Given the description of an element on the screen output the (x, y) to click on. 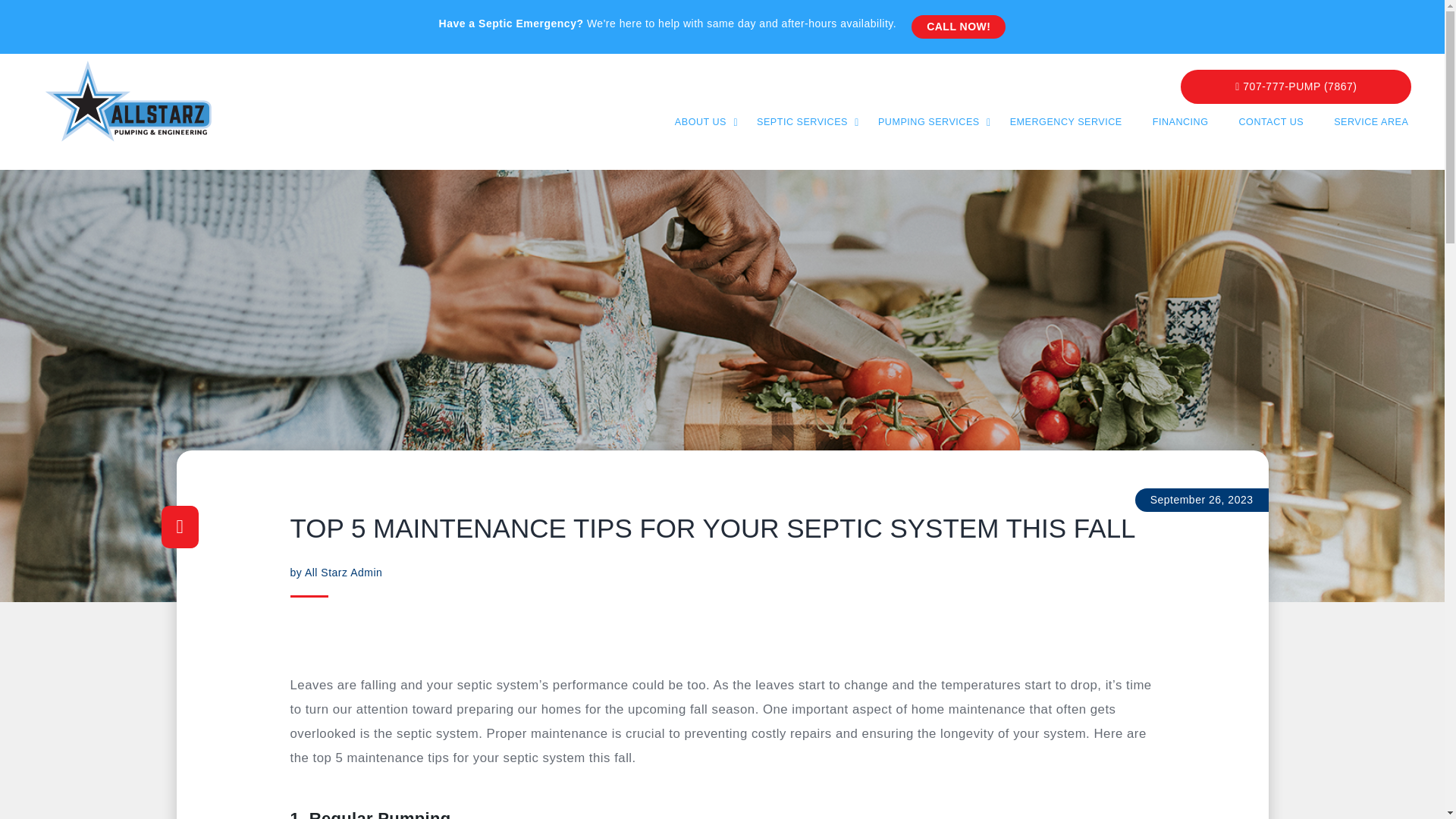
EMERGENCY SERVICE (1066, 122)
CALL NOW! (958, 26)
PUMPING SERVICES (928, 122)
CONTACT US (1271, 122)
SERVICE AREA (1370, 122)
FINANCING (1180, 122)
SEPTIC SERVICES (802, 122)
ABOUT US (700, 122)
